Given the description of an element on the screen output the (x, y) to click on. 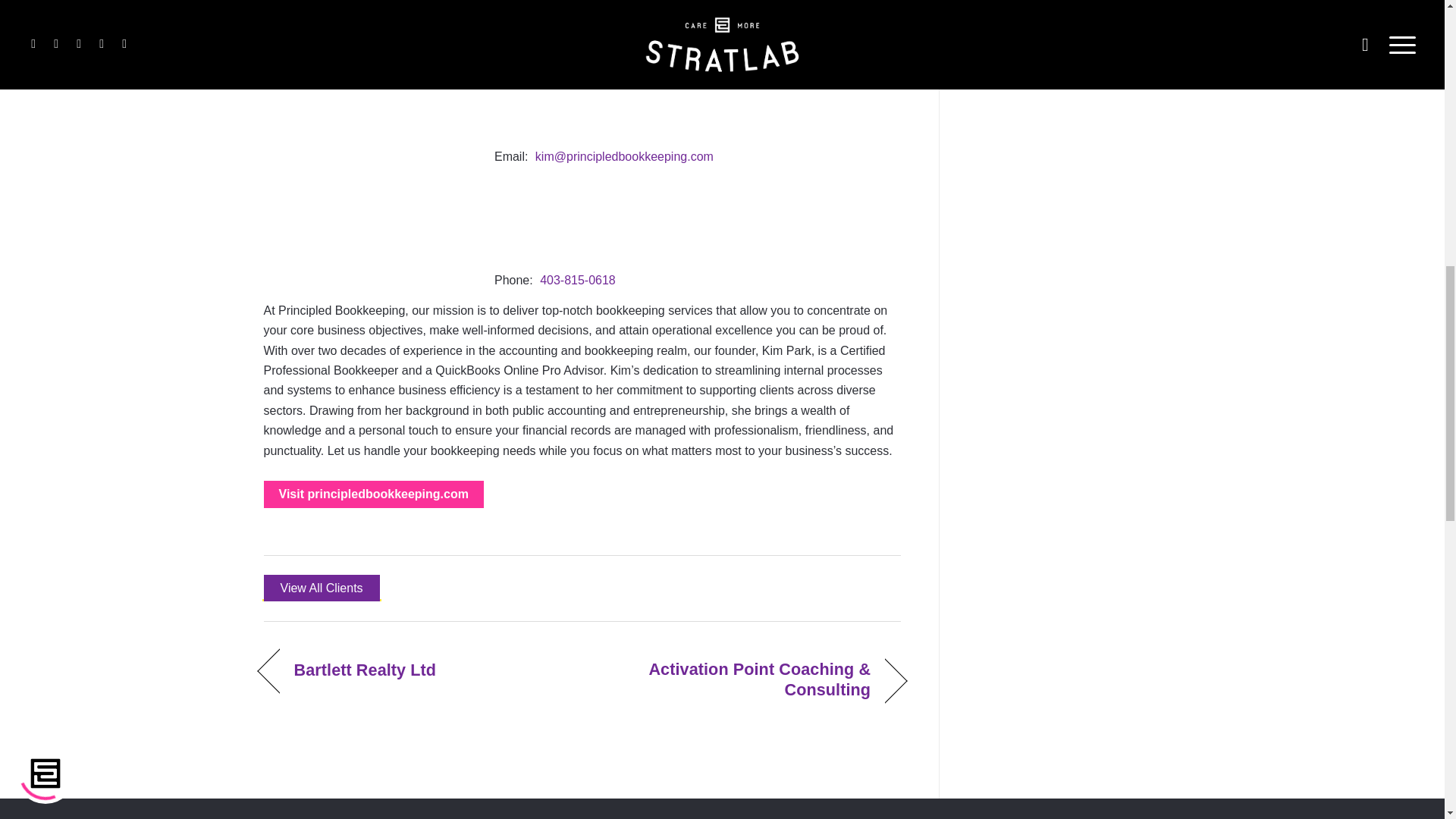
403-815-0618 (577, 279)
View All Clients (321, 587)
principledbookkeeping.com (373, 493)
